Given the description of an element on the screen output the (x, y) to click on. 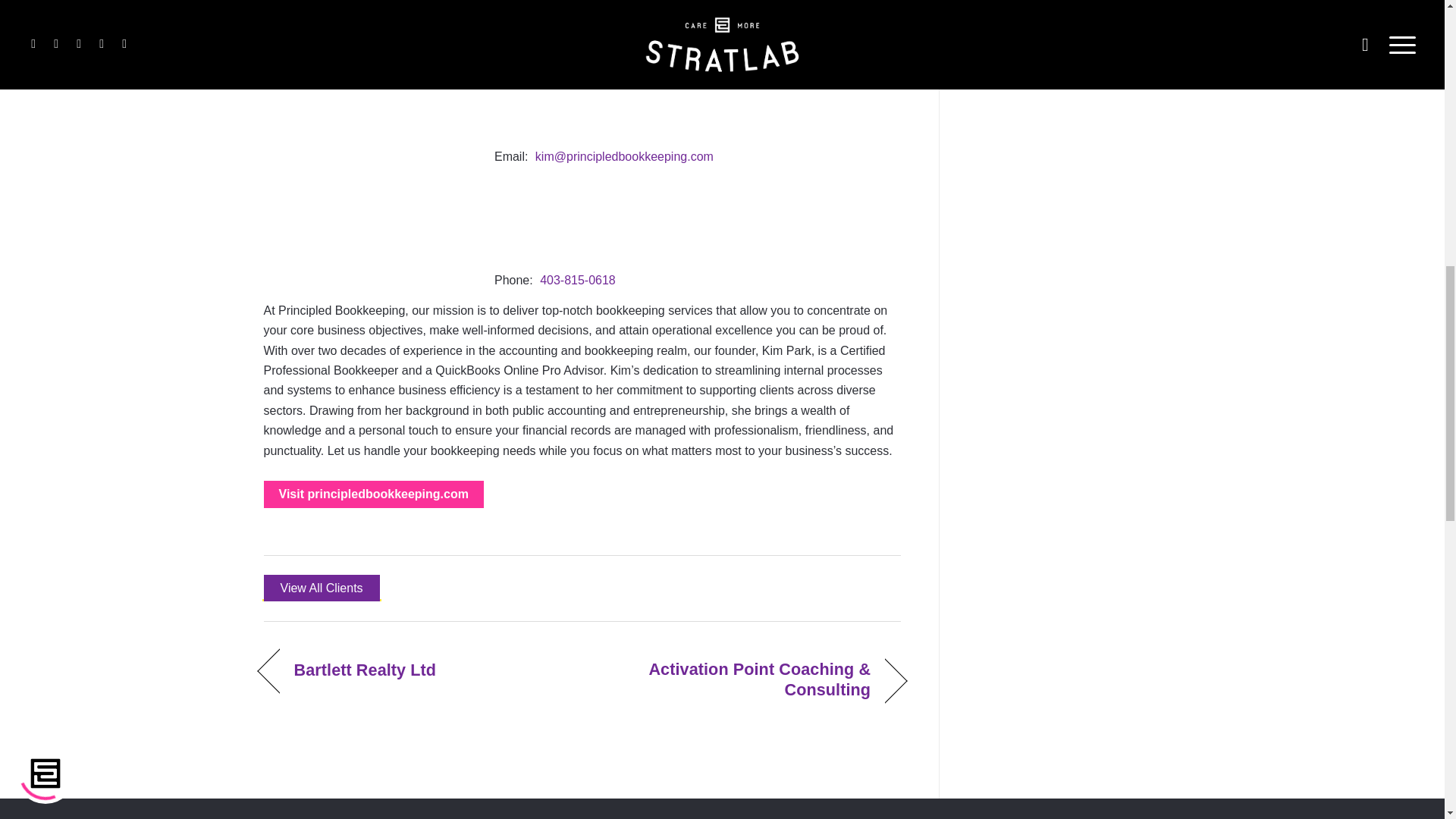
403-815-0618 (577, 279)
View All Clients (321, 587)
principledbookkeeping.com (373, 493)
